Given the description of an element on the screen output the (x, y) to click on. 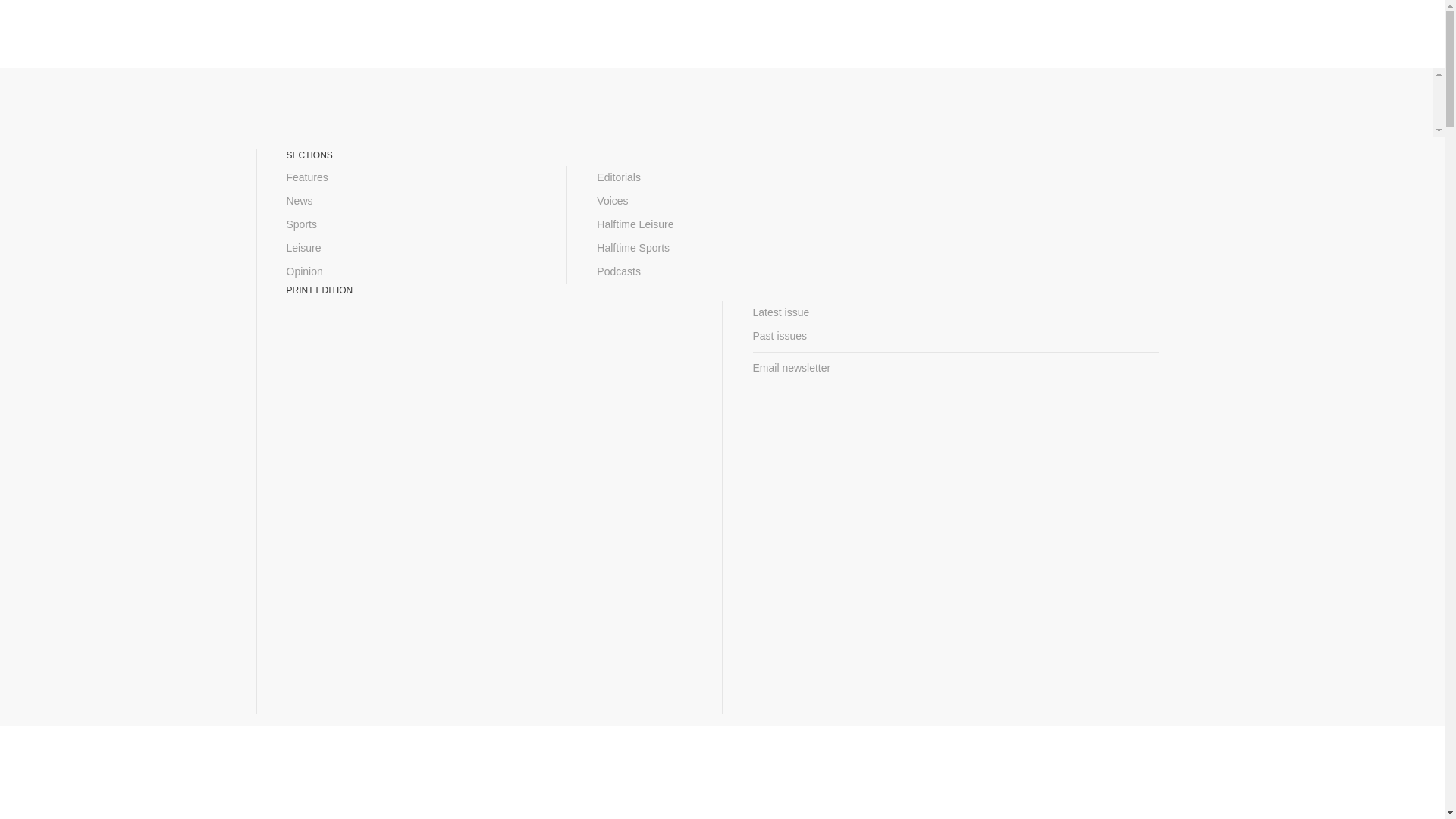
Halftime Leisure (721, 224)
News (411, 200)
Opinion (411, 271)
Sports (411, 224)
Posts by Voice Staff (486, 310)
Voices (721, 200)
Past issues (954, 336)
Halftime Sports (721, 248)
Latest issue (954, 312)
Email newsletter (954, 368)
